Given the description of an element on the screen output the (x, y) to click on. 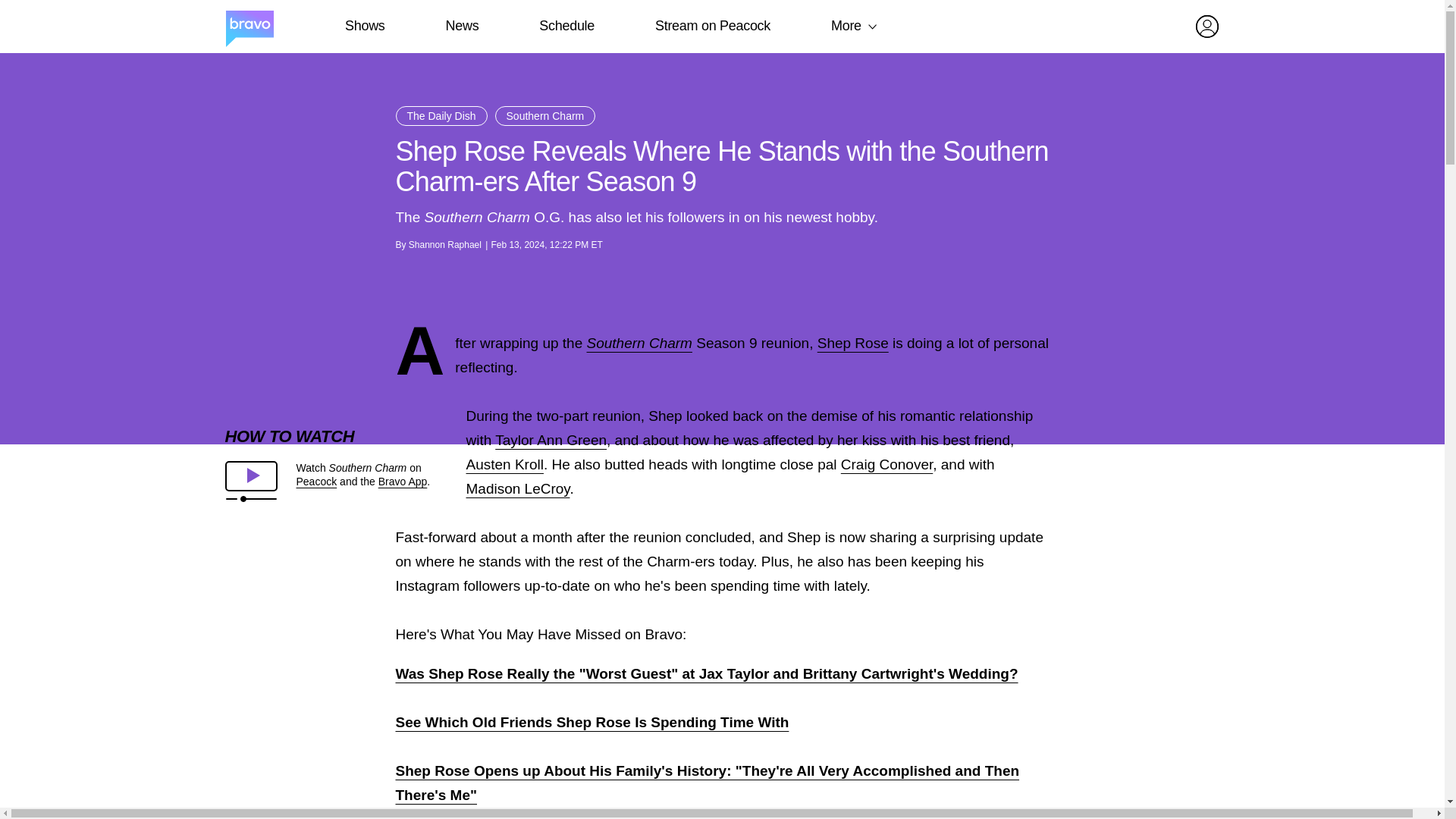
Southern Charm (639, 342)
Shows (363, 26)
See Which Old Friends Shep Rose Is Spending Time With (592, 722)
Schedule (566, 26)
Shannon Raphael (445, 244)
Austen Kroll (504, 464)
Stream on Peacock (712, 26)
Peacock (315, 481)
Taylor Ann Green (551, 439)
Madison LeCroy (517, 488)
News (462, 26)
The Daily Dish (441, 116)
